Given the description of an element on the screen output the (x, y) to click on. 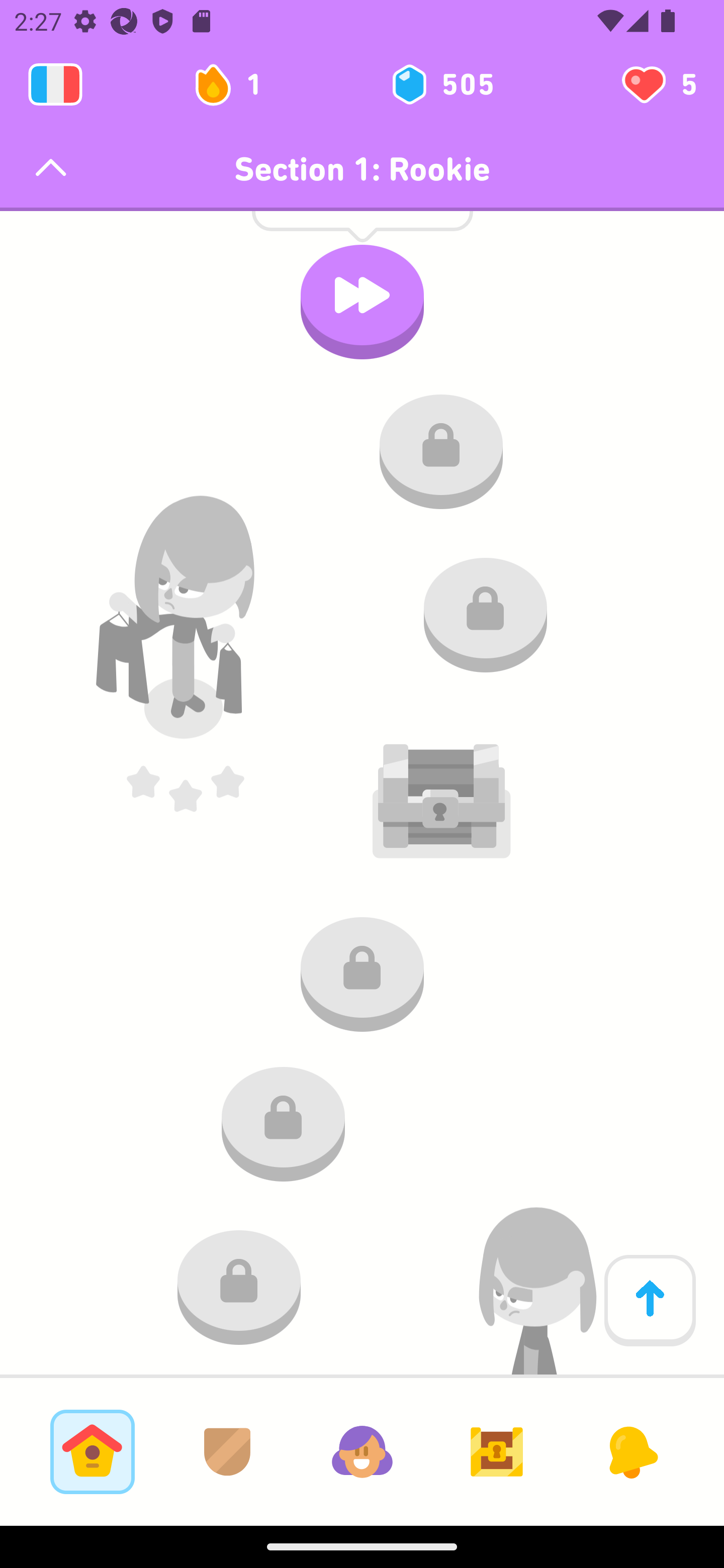
Learning 2131888976 (55, 84)
1 day streak 1 (236, 84)
505 (441, 84)
You have 5 hearts left 5 (657, 84)
Section 1: Rookie (362, 169)
Learn Tab (91, 1451)
Leagues Tab (227, 1451)
Profile Tab (361, 1451)
Goals Tab (496, 1451)
News Tab (631, 1451)
